Given the description of an element on the screen output the (x, y) to click on. 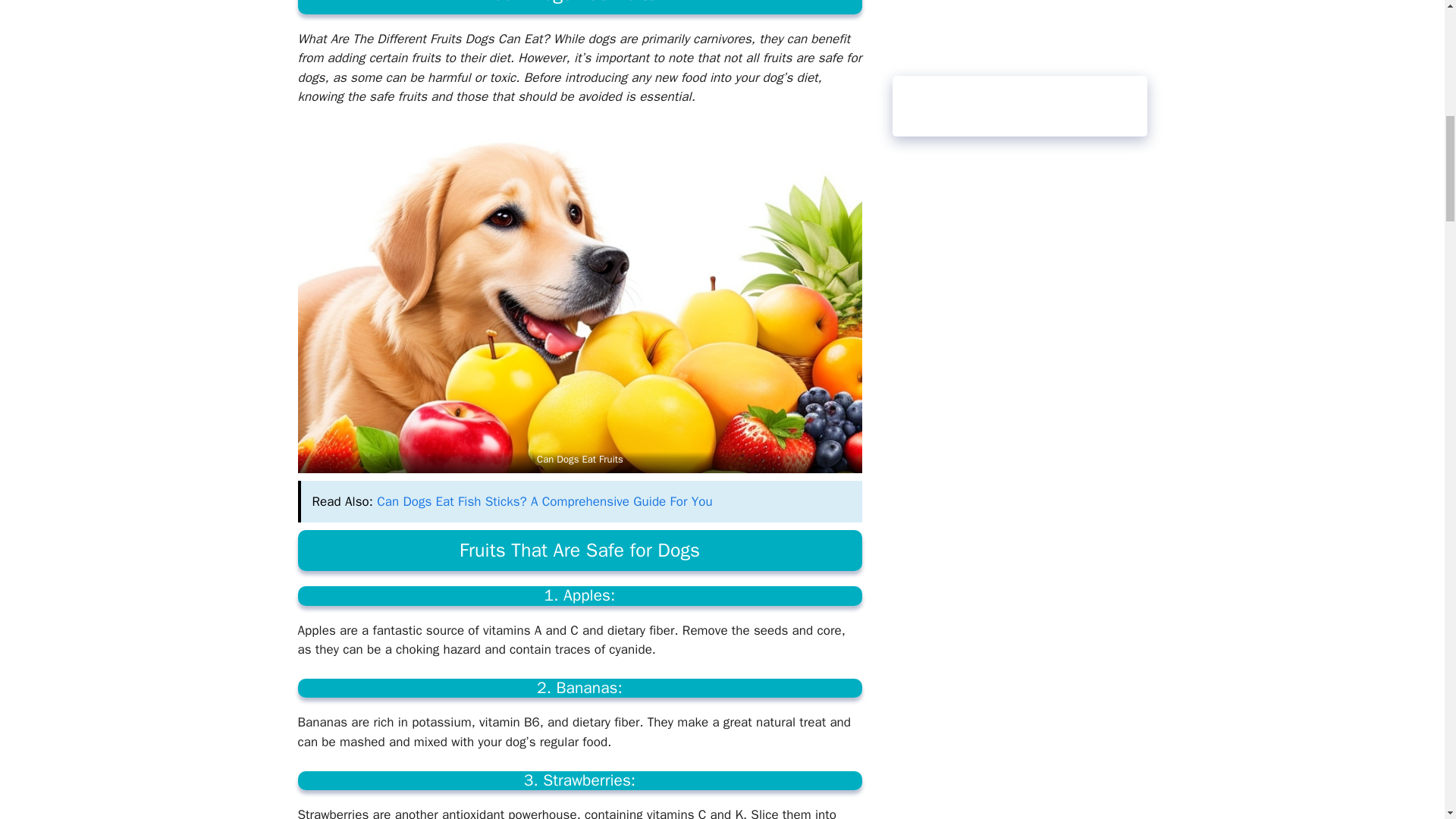
Can Dogs Eat Fish Sticks? A Comprehensive Guide For You (545, 501)
